Given the description of an element on the screen output the (x, y) to click on. 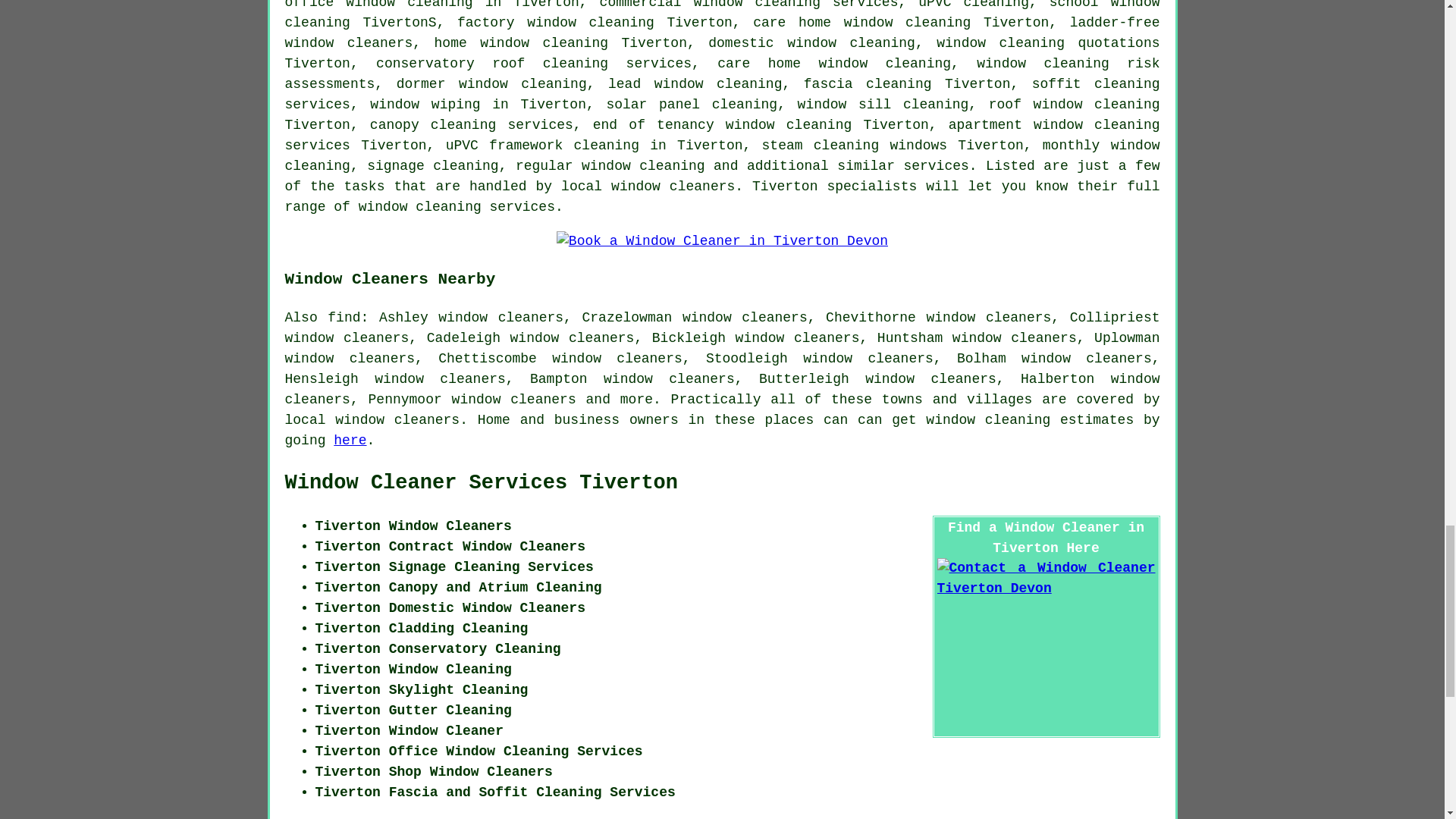
window cleaners (397, 419)
